Given the description of an element on the screen output the (x, y) to click on. 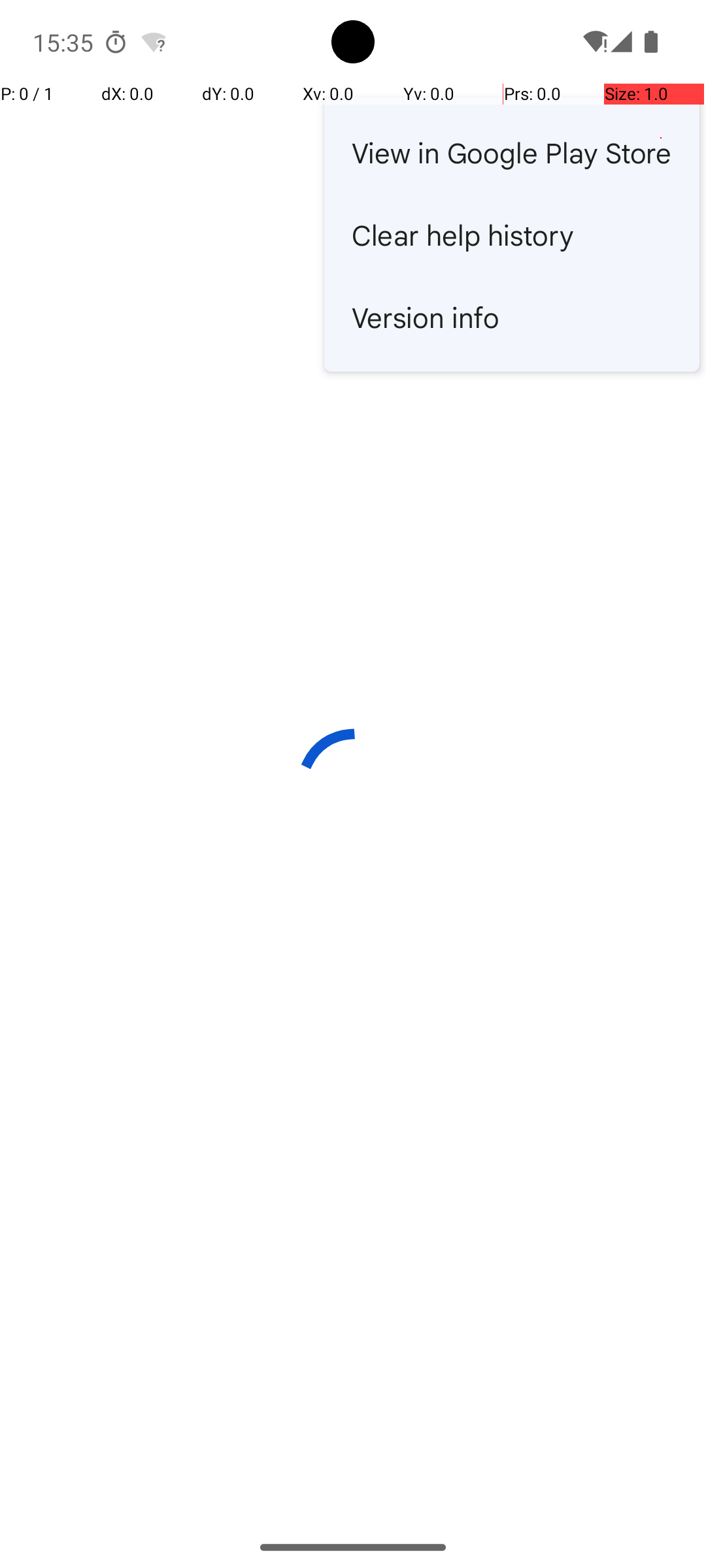
View in Google Play Store Element type: android.widget.TextView (511, 151)
Clear help history Element type: android.widget.TextView (511, 234)
Version info Element type: android.widget.TextView (511, 316)
